Given the description of an element on the screen output the (x, y) to click on. 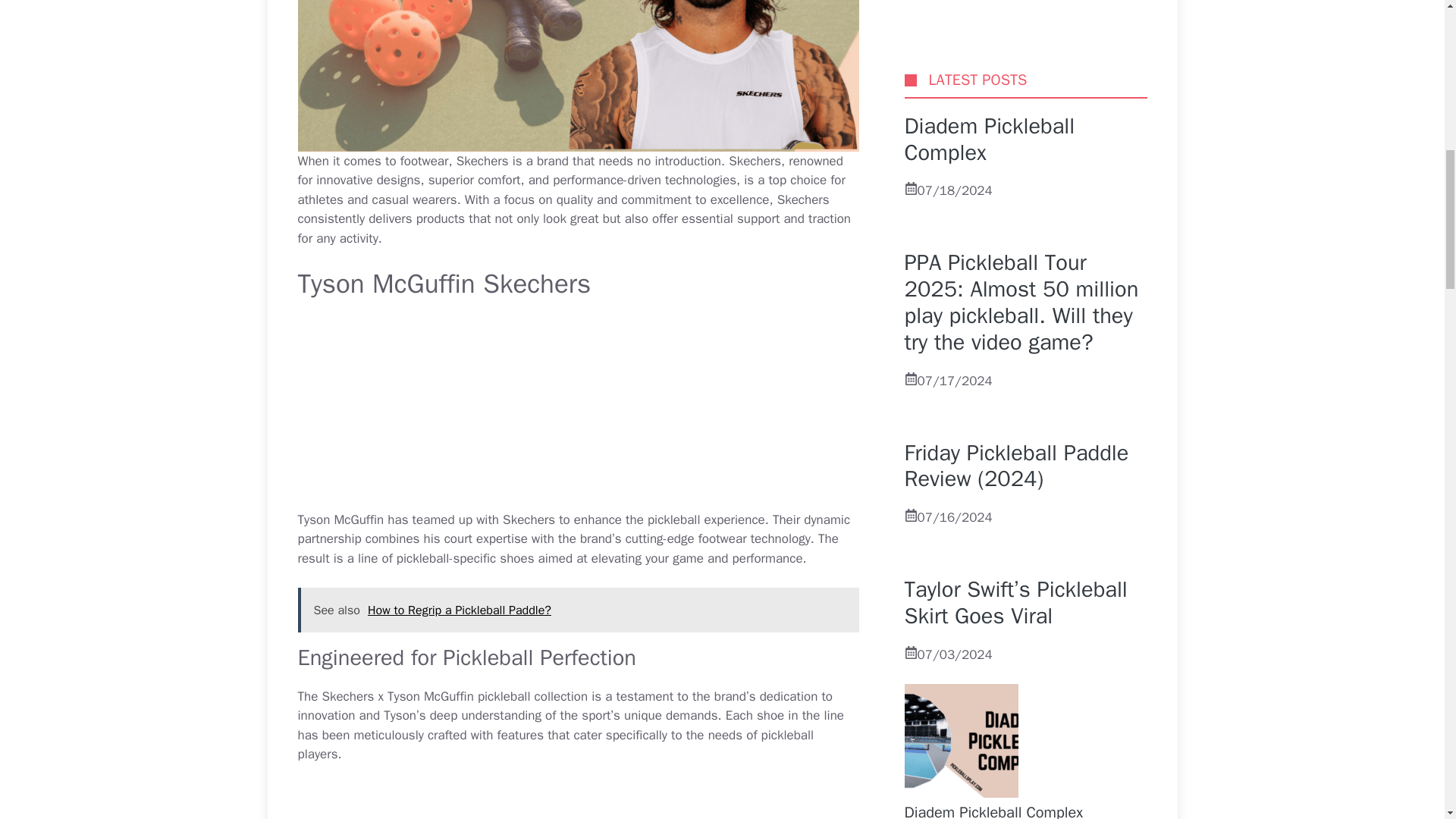
Scroll back to top (1406, 720)
See also  How to Regrip a Pickleball Paddle? (578, 610)
Diadem Pickleball Complex (993, 196)
